Given the description of an element on the screen output the (x, y) to click on. 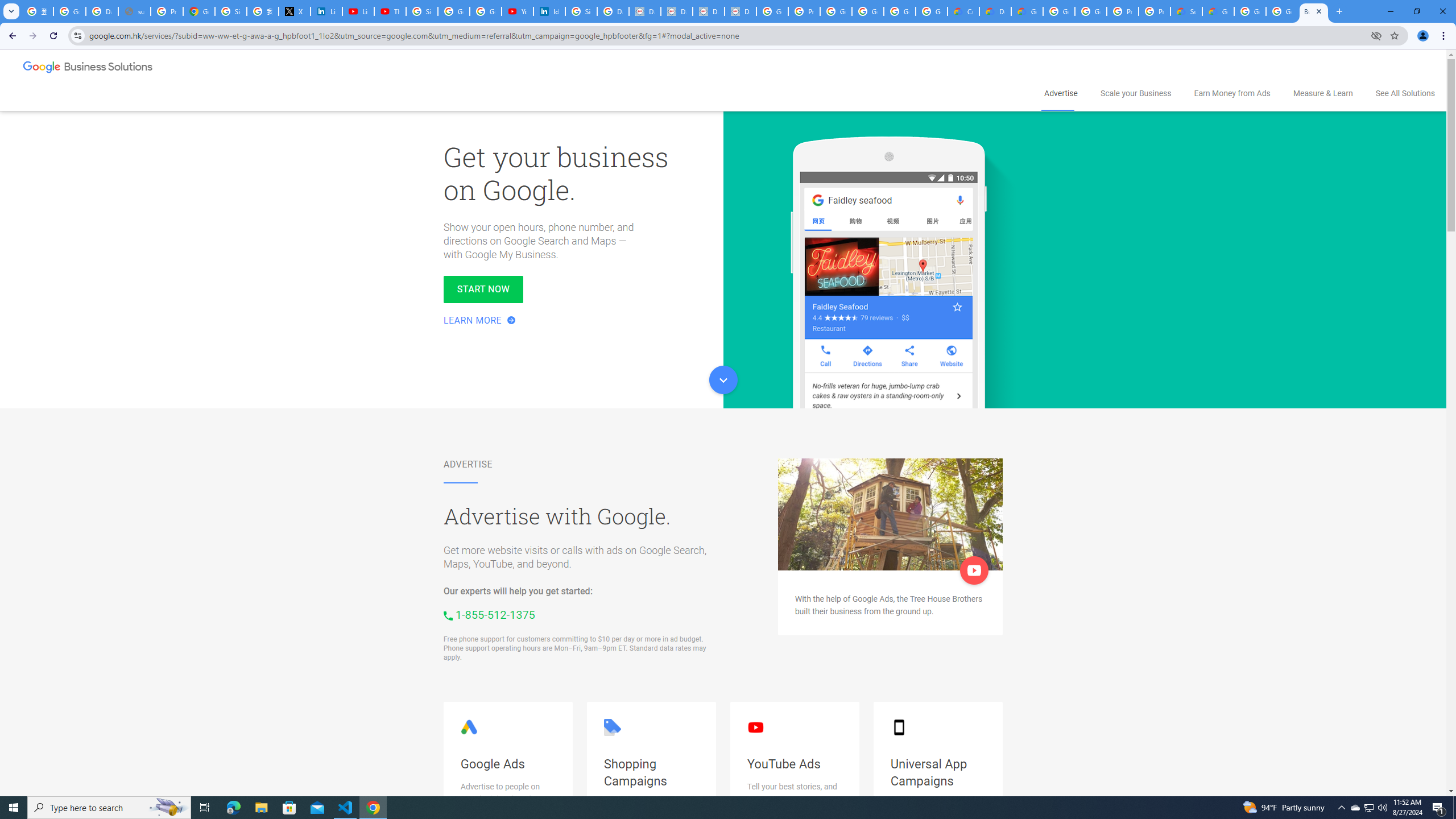
Sign in - Google Accounts (230, 11)
support.google.com - Network error (134, 11)
Measure & Learn (1322, 93)
Google Business Solutions (88, 68)
Data Privacy Framework (740, 11)
Gemini for Business and Developers | Google Cloud (1027, 11)
X (294, 11)
START NOW (483, 289)
Google Cloud Platform (1059, 11)
